Given the description of an element on the screen output the (x, y) to click on. 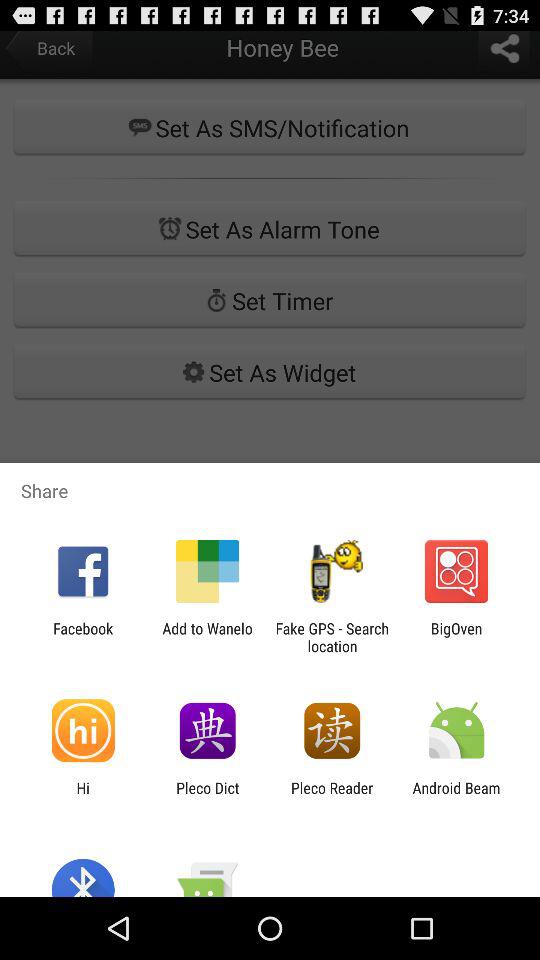
press item next to the pleco reader (456, 796)
